Given the description of an element on the screen output the (x, y) to click on. 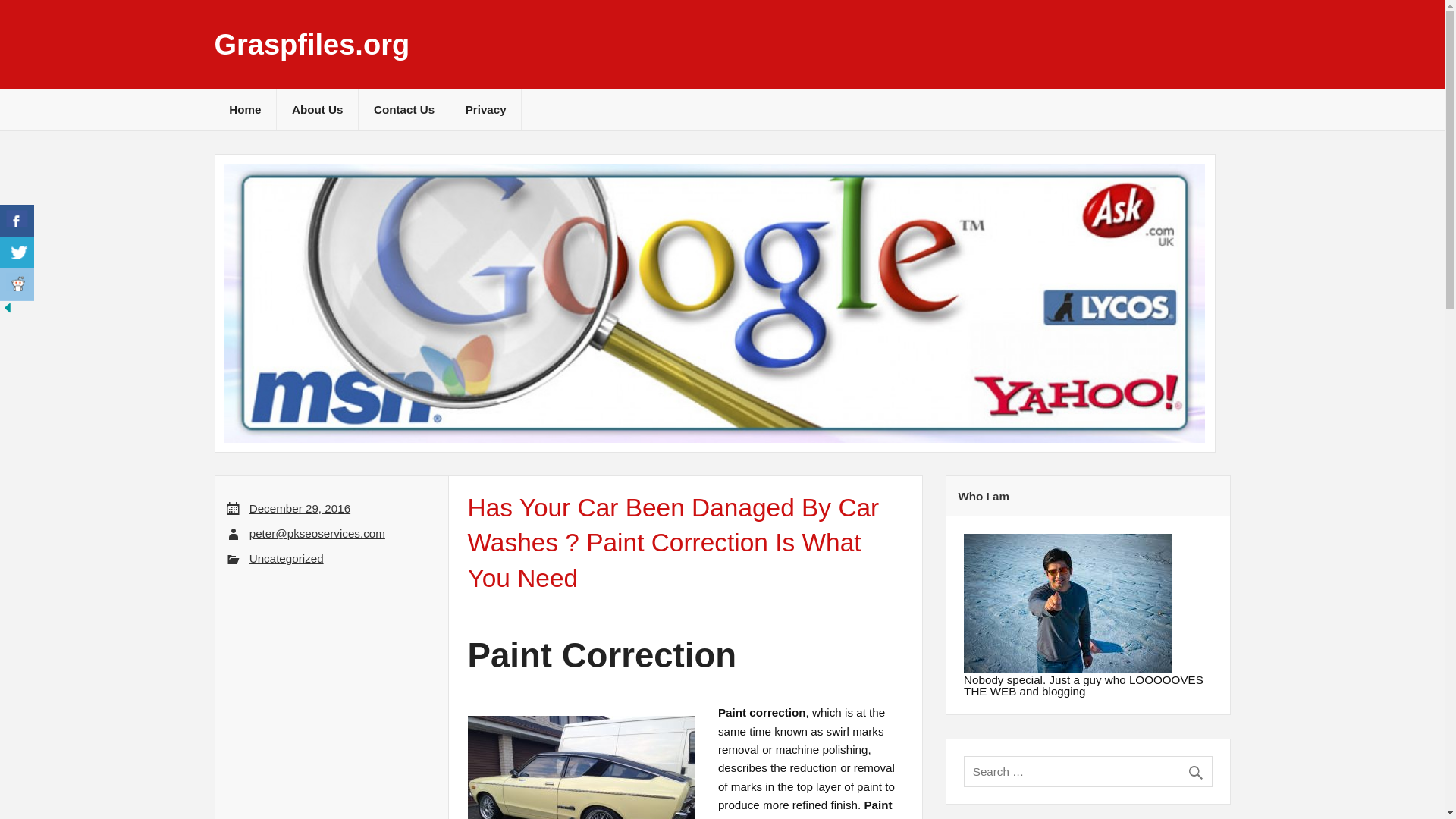
Uncategorized (285, 558)
December 29, 2016 (299, 508)
Share On Reddit (16, 284)
5:22 pm (299, 508)
Share On Facebook (16, 220)
About Us (317, 109)
Share On Twitter (16, 252)
Hide Buttons (7, 310)
Graspfiles.org (311, 44)
Home (245, 109)
